Given the description of an element on the screen output the (x, y) to click on. 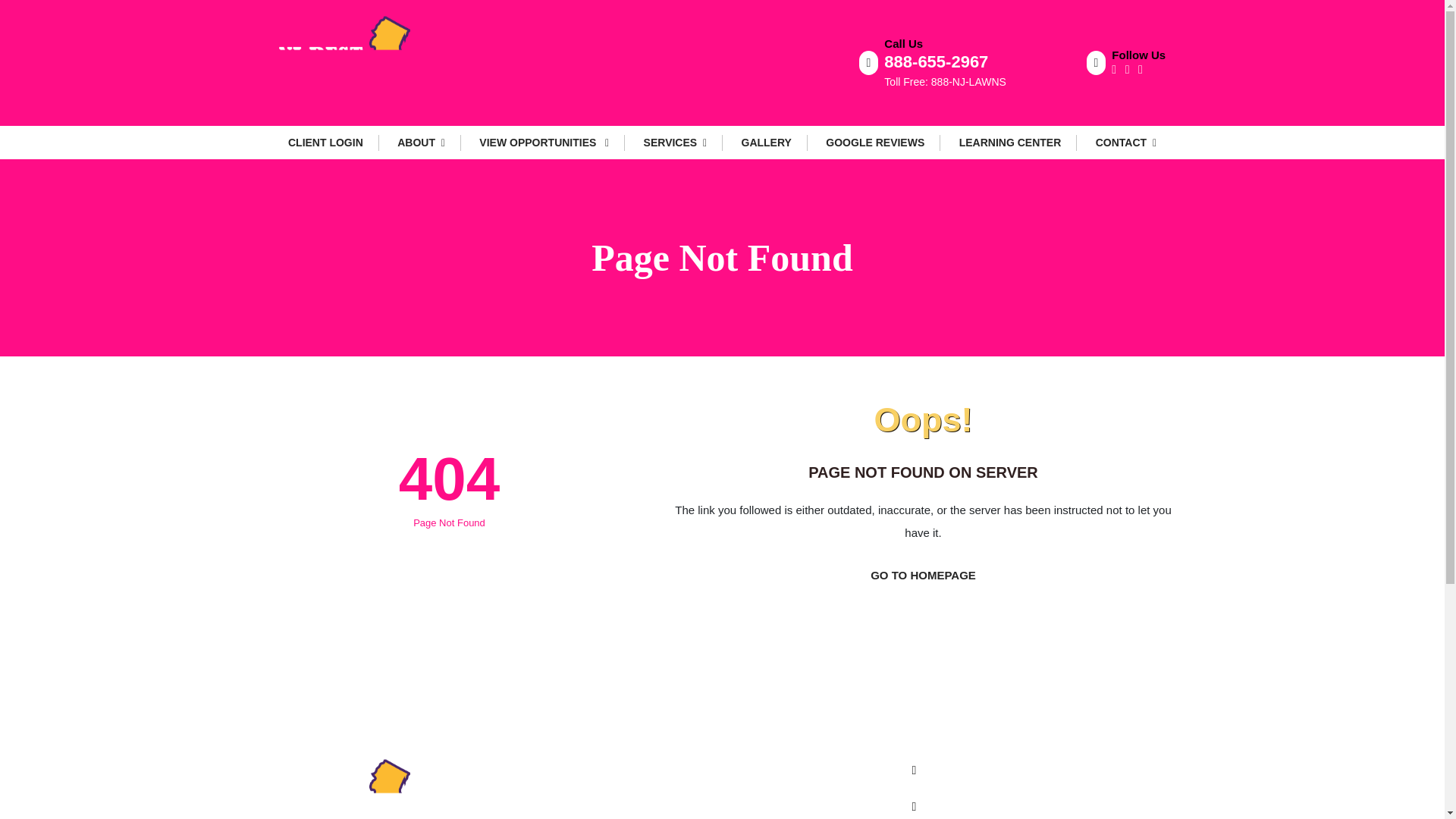
VIEW OPPORTUNITIES    (543, 142)
888-655-2967 (935, 61)
LEARNING CENTER (1010, 142)
GO TO HOMEPAGE (923, 574)
GALLERY (766, 142)
CLIENT LOGIN (326, 142)
ABOUT   (421, 142)
CLIENT LOGIN (755, 799)
GO TO HOMEPAGE (923, 575)
HOME (732, 771)
